Given the description of an element on the screen output the (x, y) to click on. 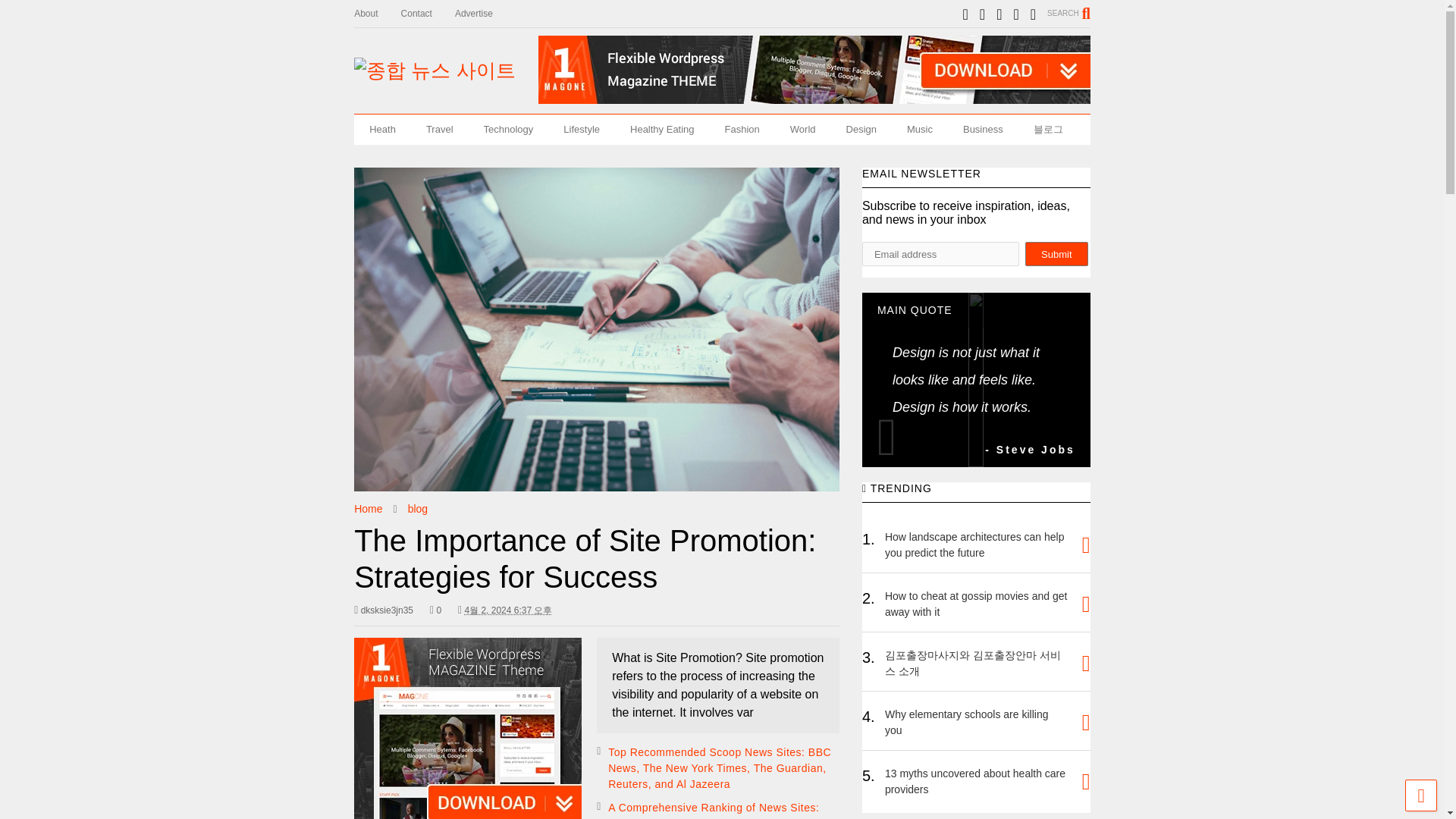
Heath (381, 129)
World (802, 129)
Submit (1056, 253)
Contact (427, 13)
Travel (439, 129)
SEARCH (1068, 13)
Music (919, 129)
Healthy Eating (662, 129)
Lifestyle (581, 129)
dksksie3jn35 (383, 610)
Business (982, 129)
Advertise (484, 13)
Fashion (742, 129)
